Given the description of an element on the screen output the (x, y) to click on. 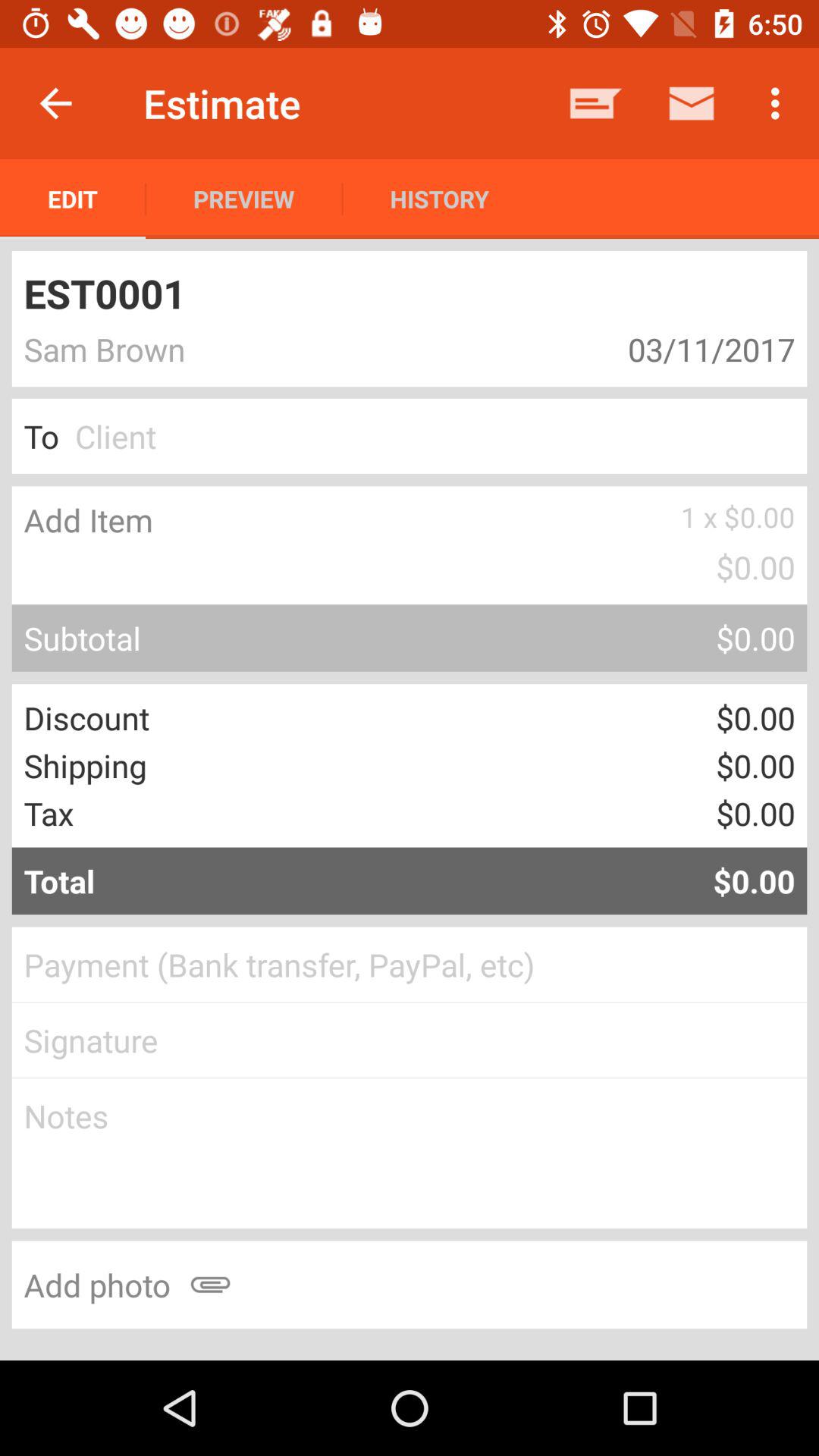
turn off item next to the preview item (439, 198)
